Given the description of an element on the screen output the (x, y) to click on. 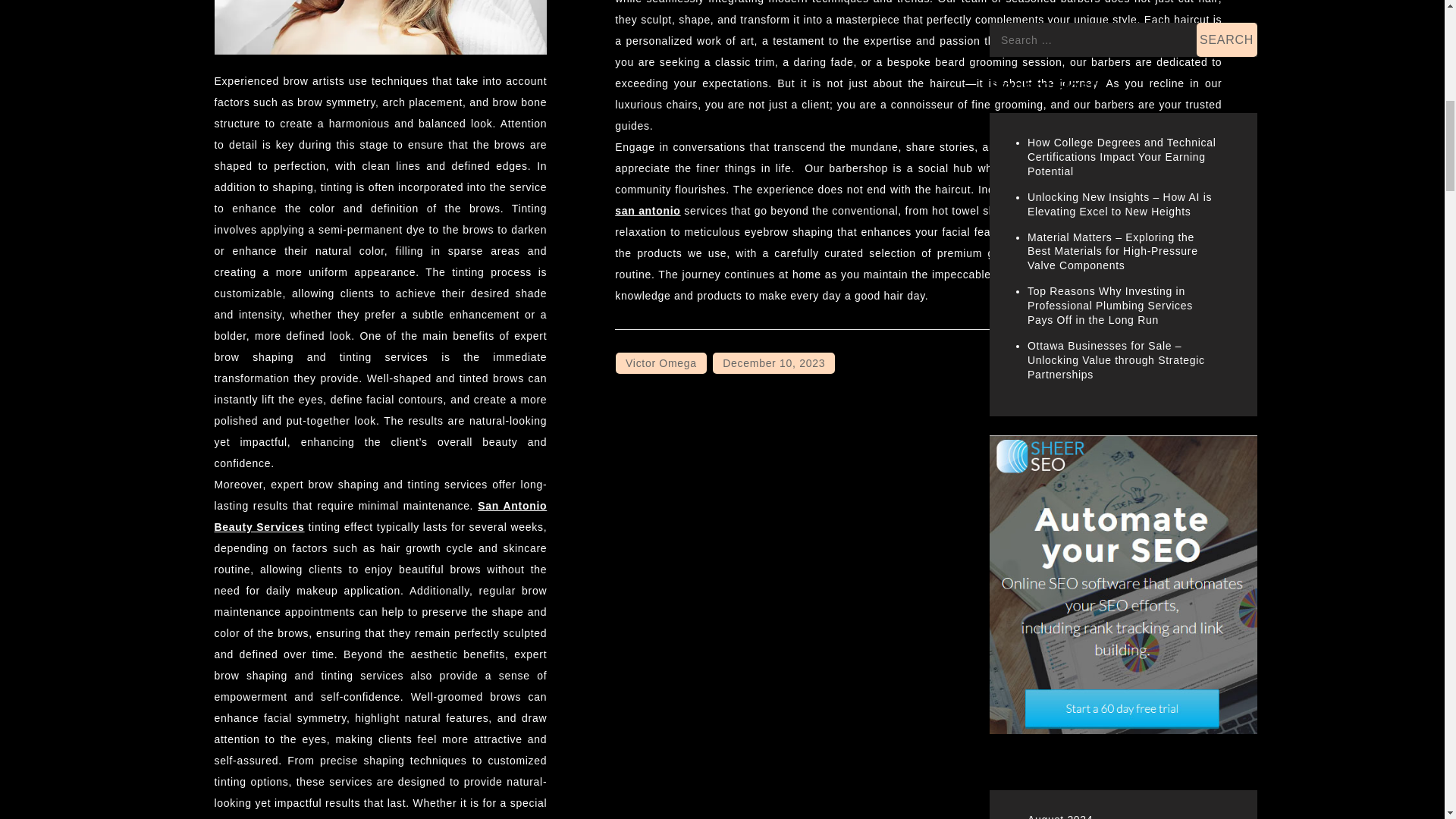
San Antonio Beauty Services (380, 516)
December 10, 2023 (773, 362)
barbershop in san antonio (917, 200)
Victor Omega (660, 362)
